Given the description of an element on the screen output the (x, y) to click on. 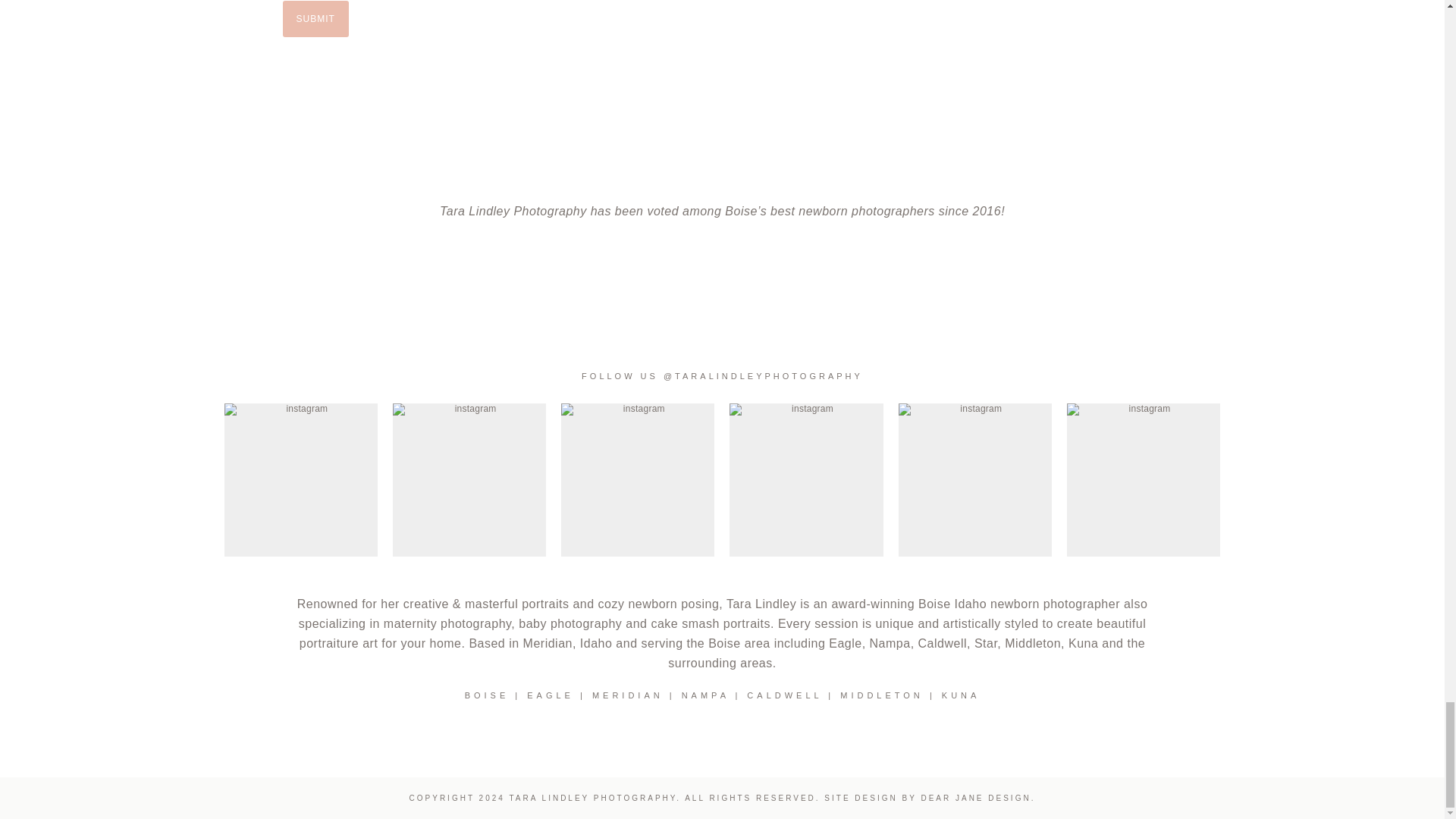
Submit (314, 18)
